Given the description of an element on the screen output the (x, y) to click on. 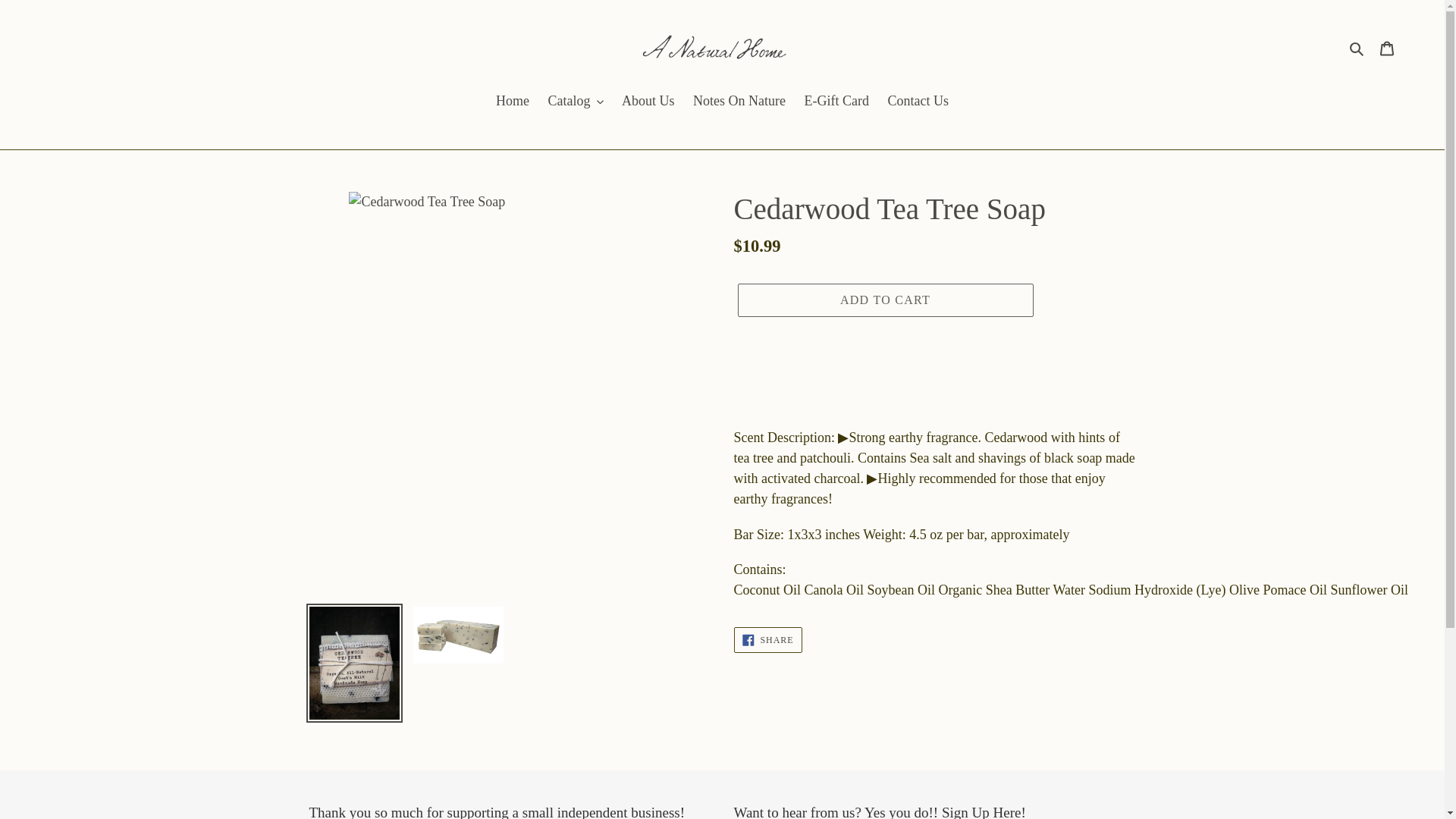
Catalog (575, 101)
Home (512, 101)
Cart (1387, 47)
Search (1357, 47)
